Given the description of an element on the screen output the (x, y) to click on. 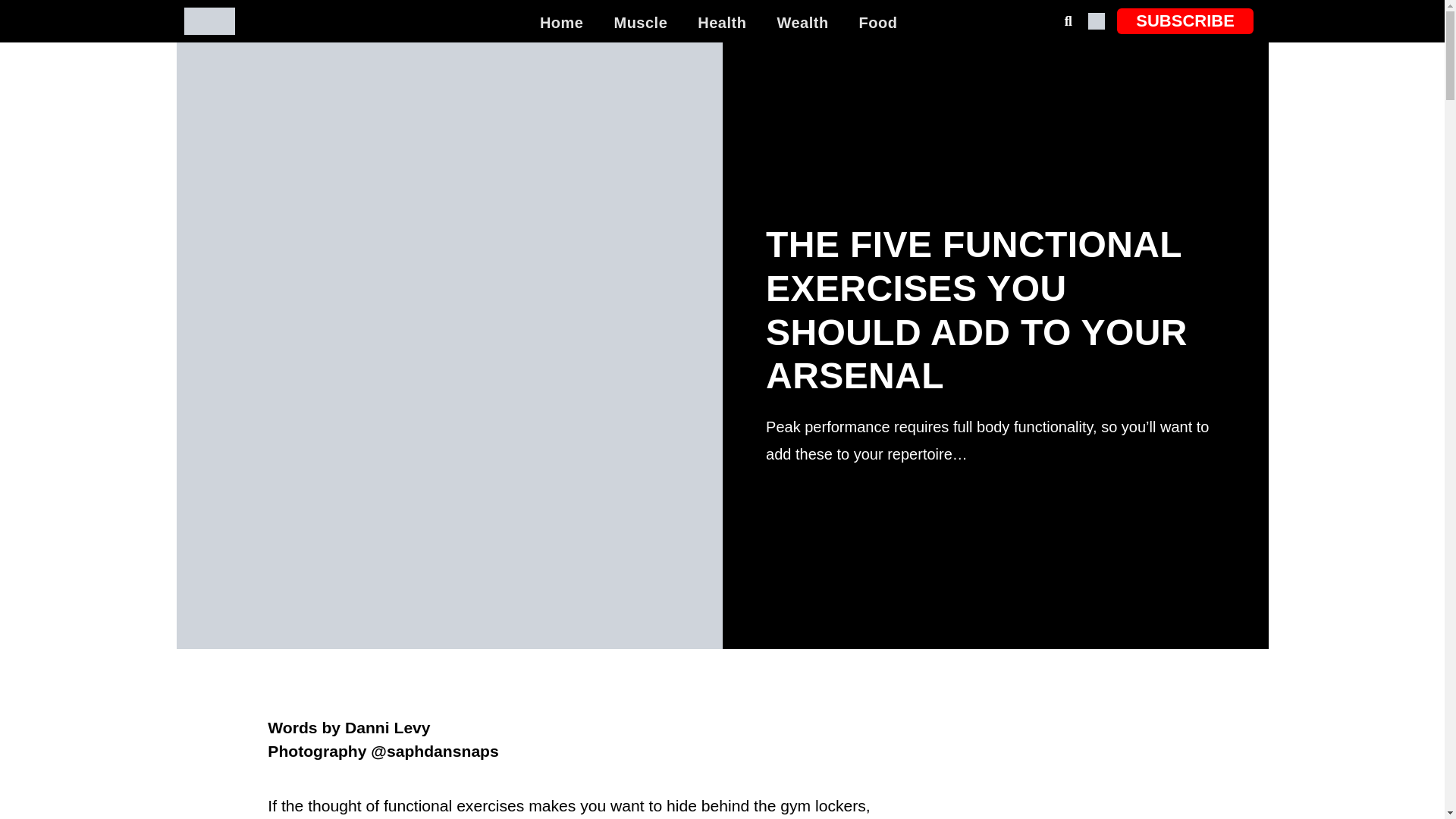
Food (878, 22)
Health (721, 22)
Home (561, 22)
Muscle (640, 22)
Wealth (802, 22)
